Given the description of an element on the screen output the (x, y) to click on. 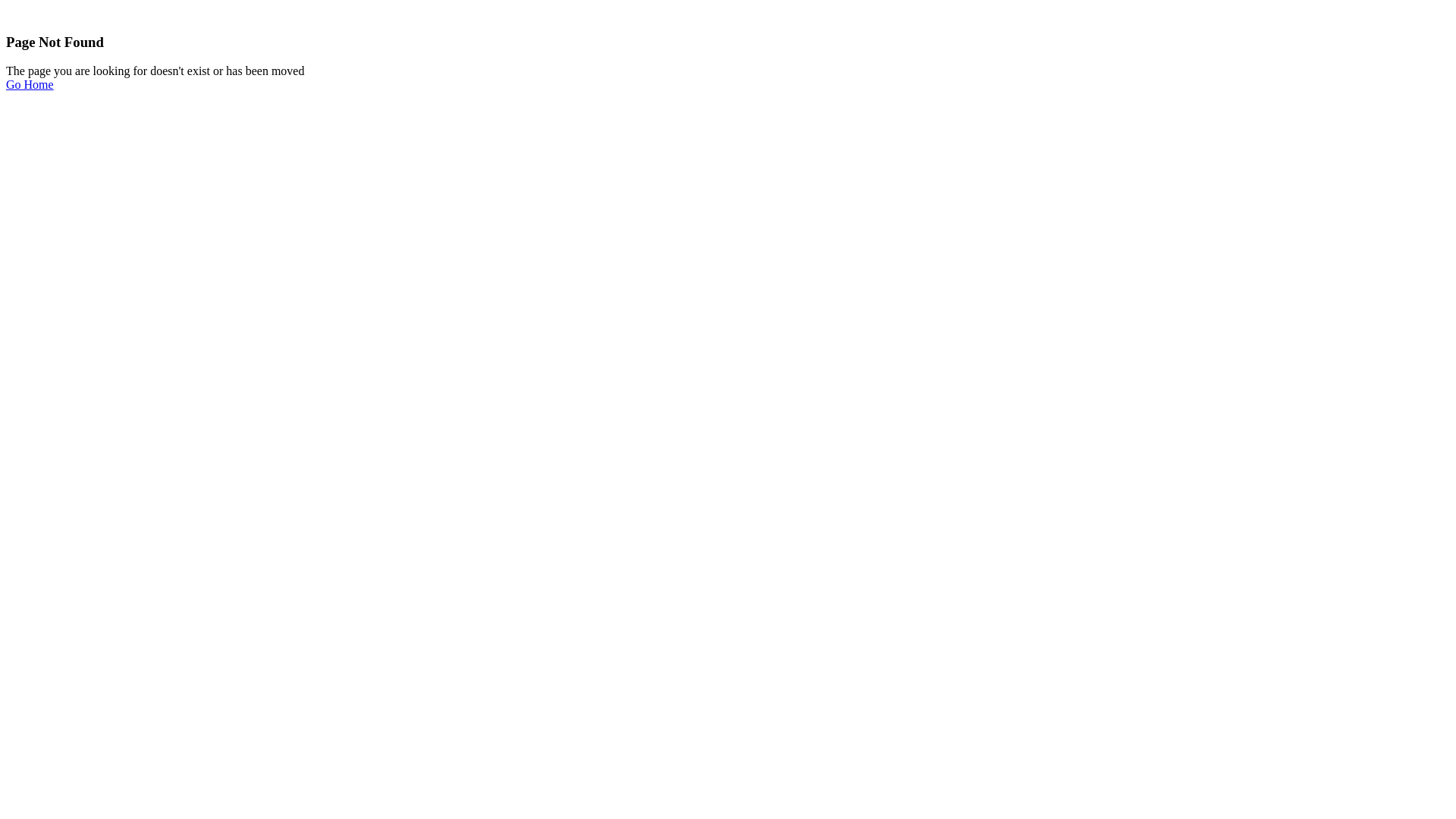
Go Home Element type: text (29, 84)
